Given the description of an element on the screen output the (x, y) to click on. 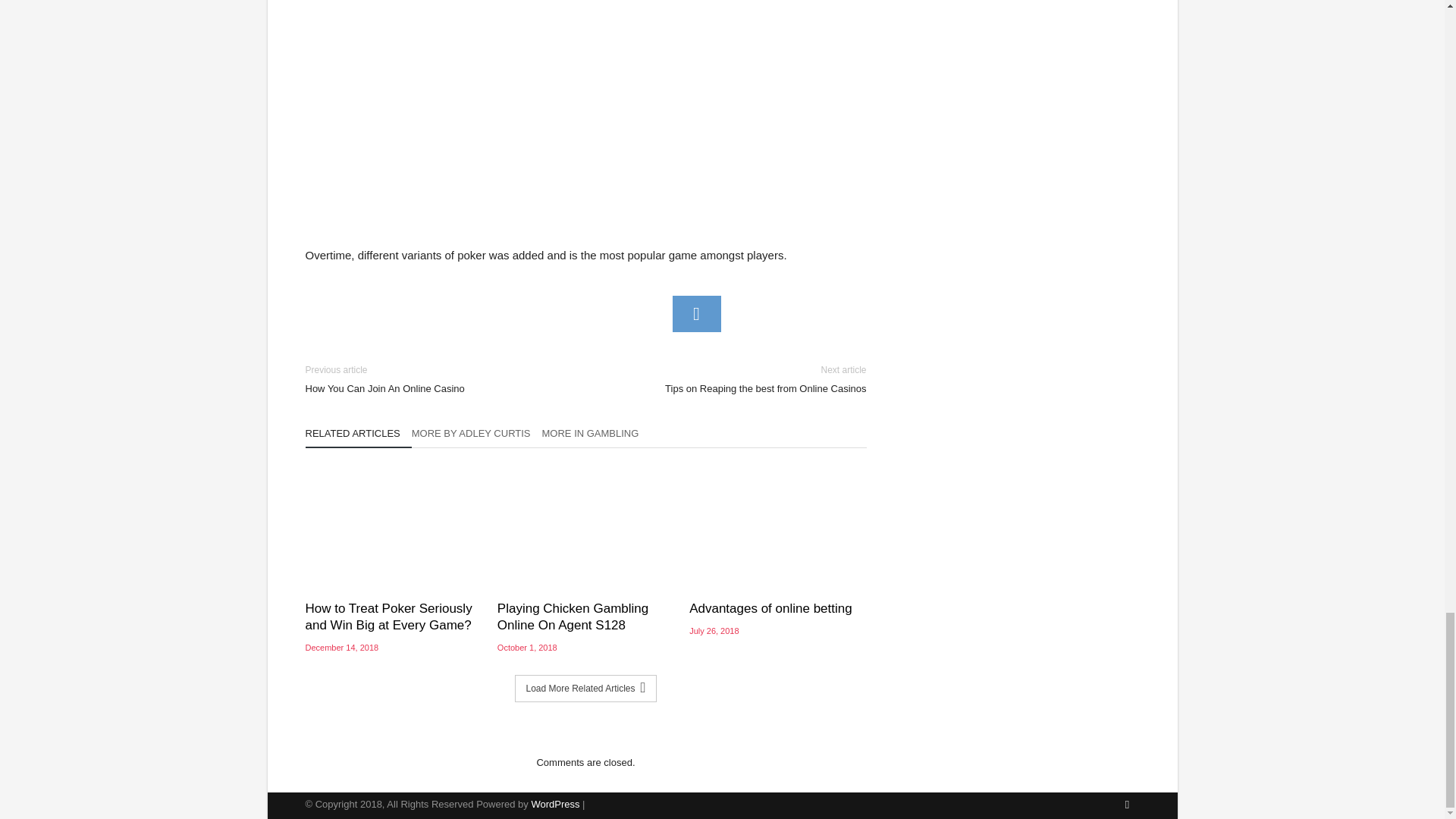
MORE IN GAMBLING (595, 436)
MORE BY ADLEY CURTIS (433, 379)
How to Treat Poker Seriously and Win Big at Every Game? (476, 436)
reddit (392, 616)
Share on Reddit (737, 379)
RELATED ARTICLES (695, 313)
